Given the description of an element on the screen output the (x, y) to click on. 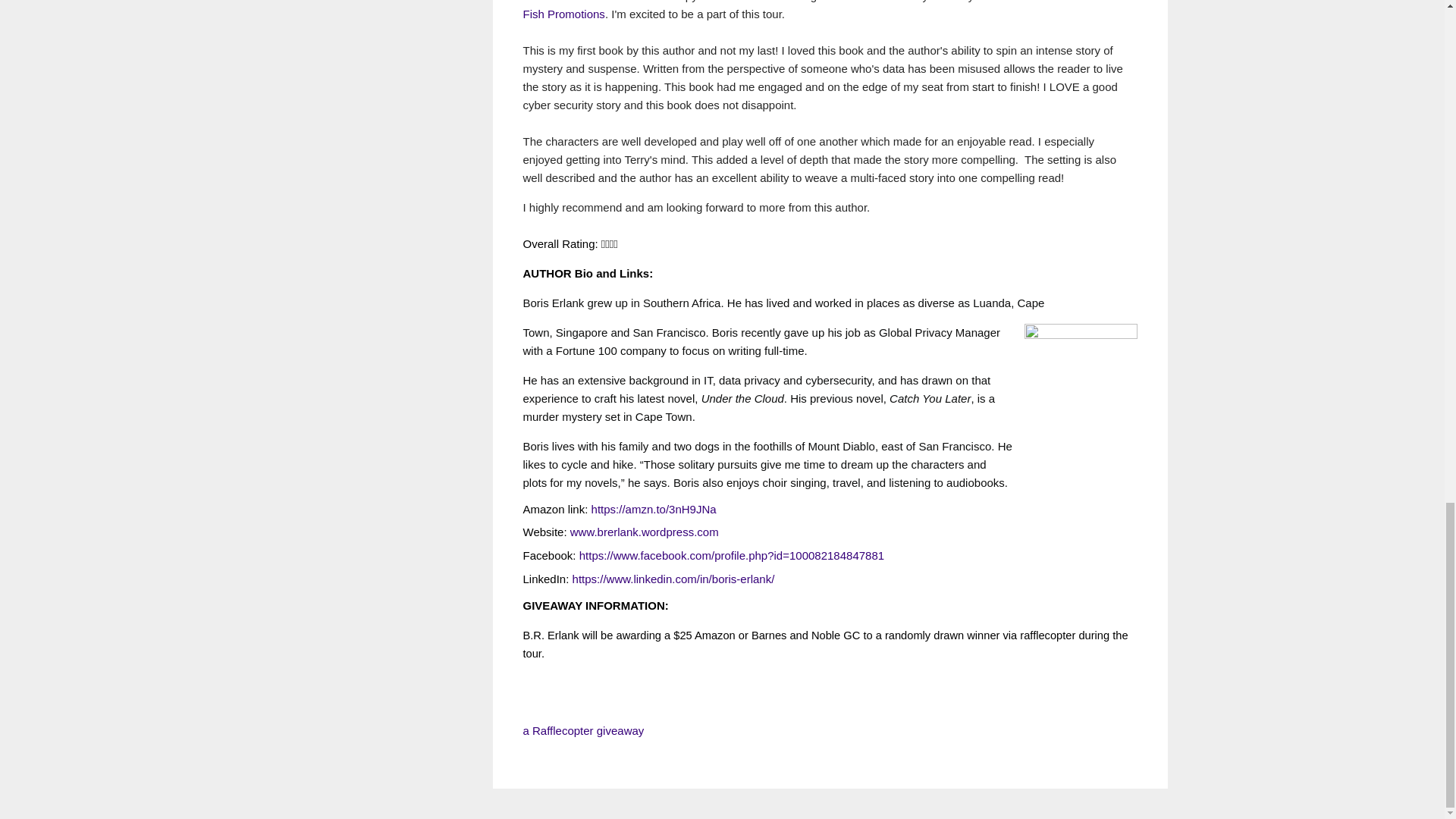
a Rafflecopter giveaway (583, 730)
Goddess Fish Promotions (820, 9)
www.brerlank.wordpress.com (644, 531)
B.R. Erlank (1018, 0)
